Given the description of an element on the screen output the (x, y) to click on. 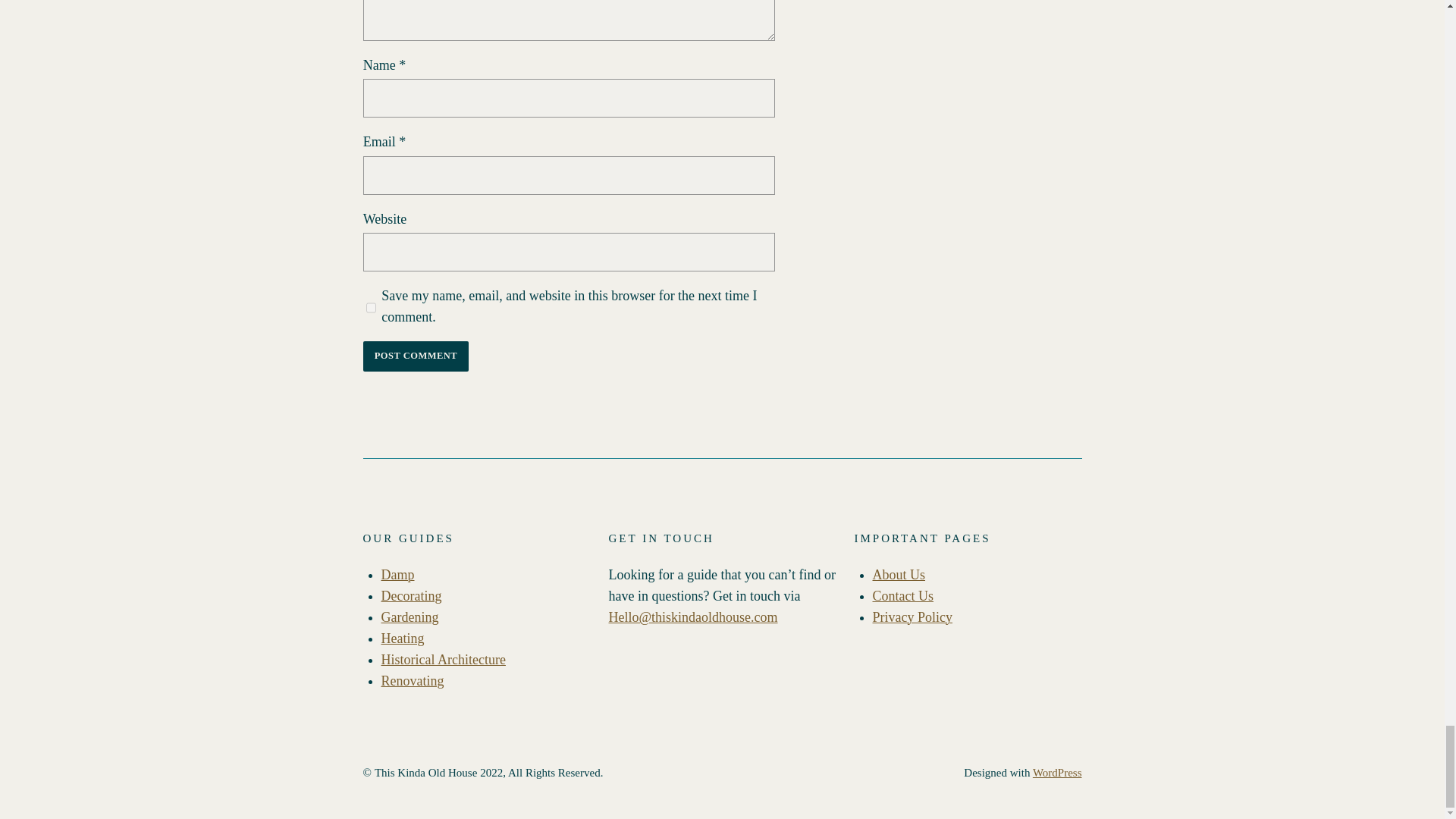
Post Comment (415, 356)
Post Comment (415, 356)
